Given the description of an element on the screen output the (x, y) to click on. 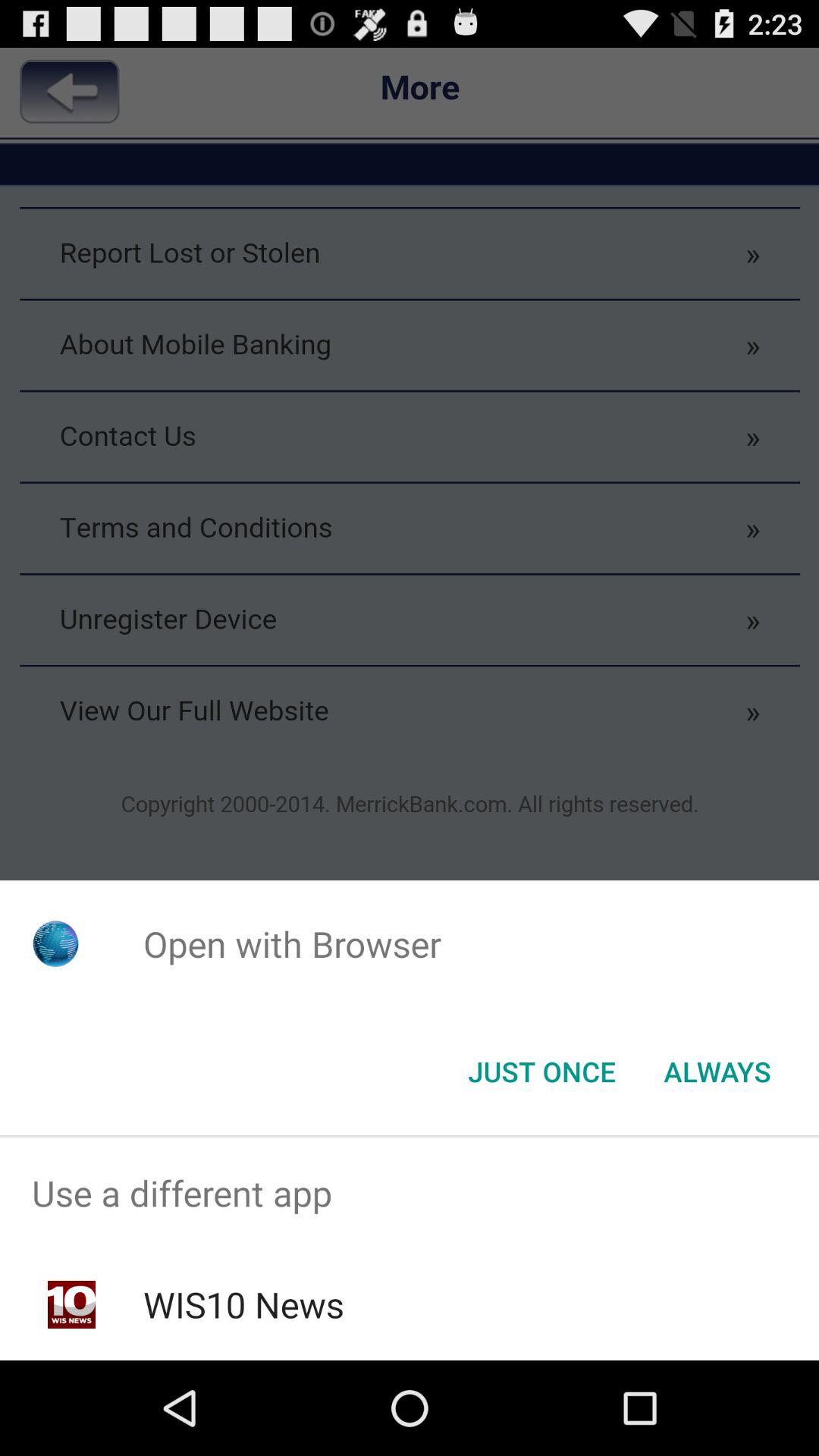
turn on item below use a different item (243, 1304)
